Given the description of an element on the screen output the (x, y) to click on. 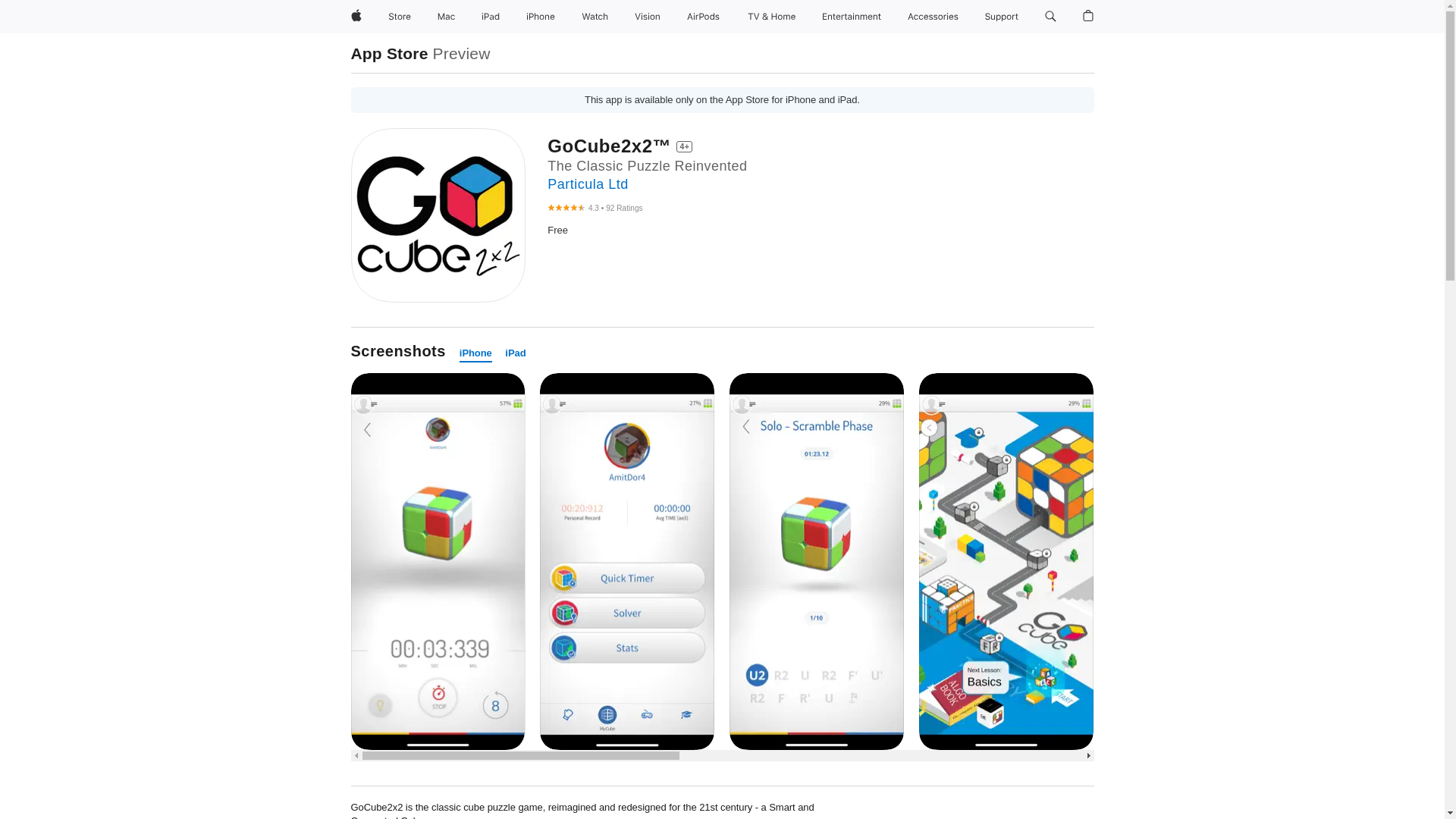
Accessories (932, 16)
Watch (594, 16)
iPad (490, 16)
iPad (515, 353)
Support (1001, 16)
App Store (389, 53)
Vision (647, 16)
iPhone (539, 16)
Particula Ltd (587, 183)
Entertainment (851, 16)
